Given the description of an element on the screen output the (x, y) to click on. 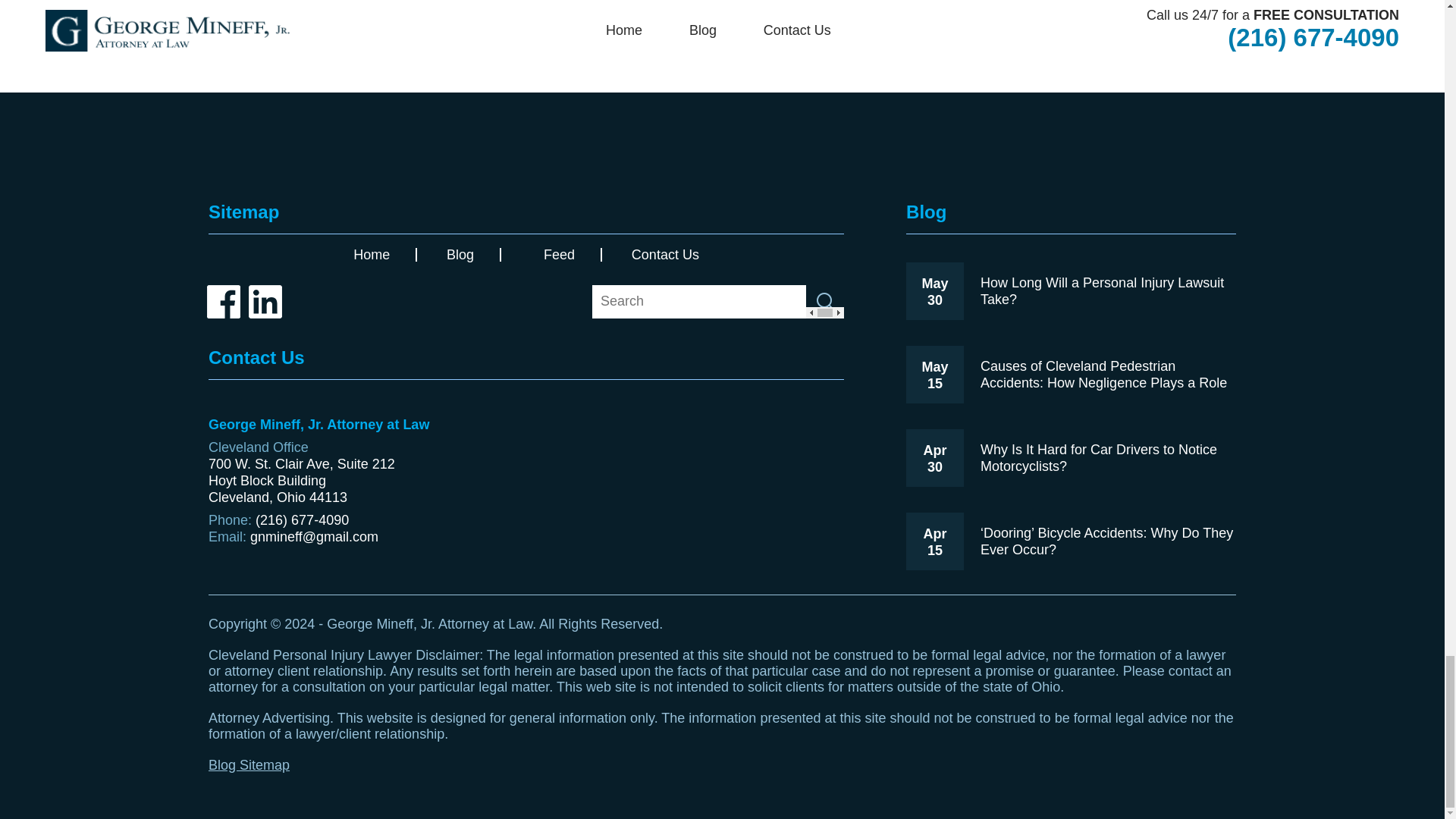
Law Firm (720, 149)
Submit (825, 301)
Submit (825, 301)
